Given the description of an element on the screen output the (x, y) to click on. 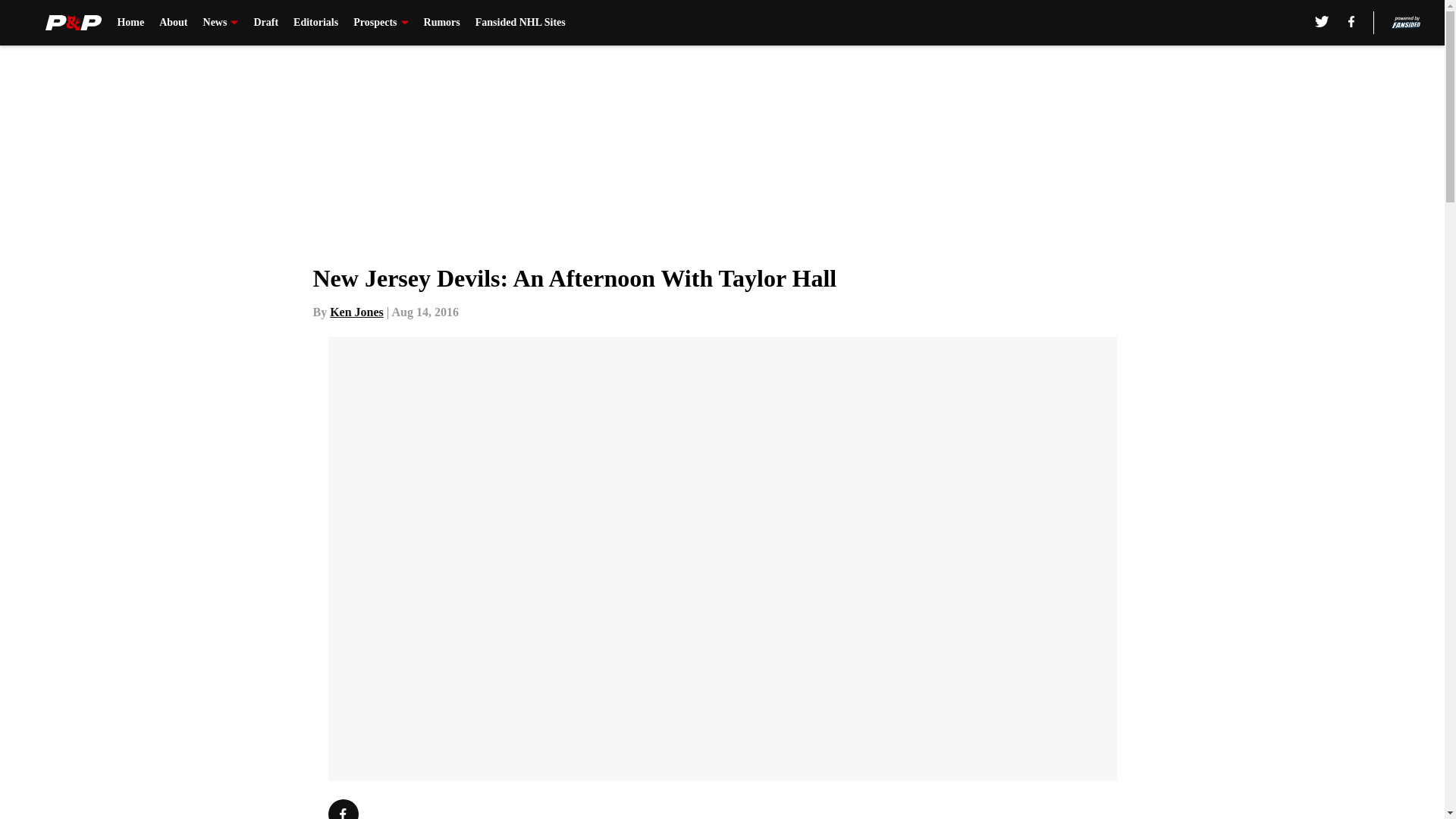
Editorials (315, 22)
Ken Jones (357, 311)
About (172, 22)
Draft (265, 22)
Fansided NHL Sites (521, 22)
Home (130, 22)
Rumors (441, 22)
